Given the description of an element on the screen output the (x, y) to click on. 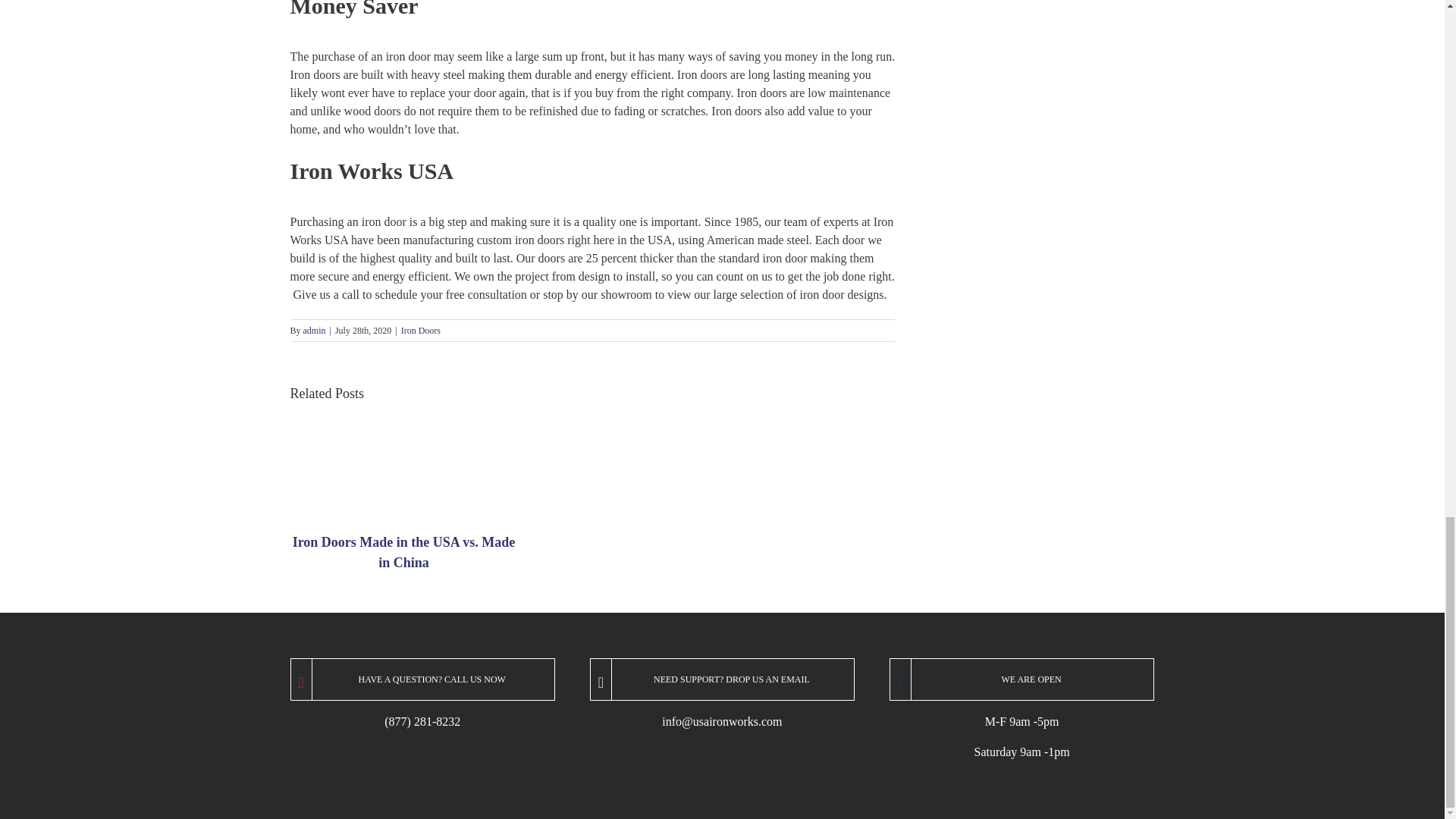
Posts by admin (314, 330)
Iron Doors (421, 330)
Iron Doors Made in the USA vs. Made in China (403, 552)
admin (314, 330)
